Given the description of an element on the screen output the (x, y) to click on. 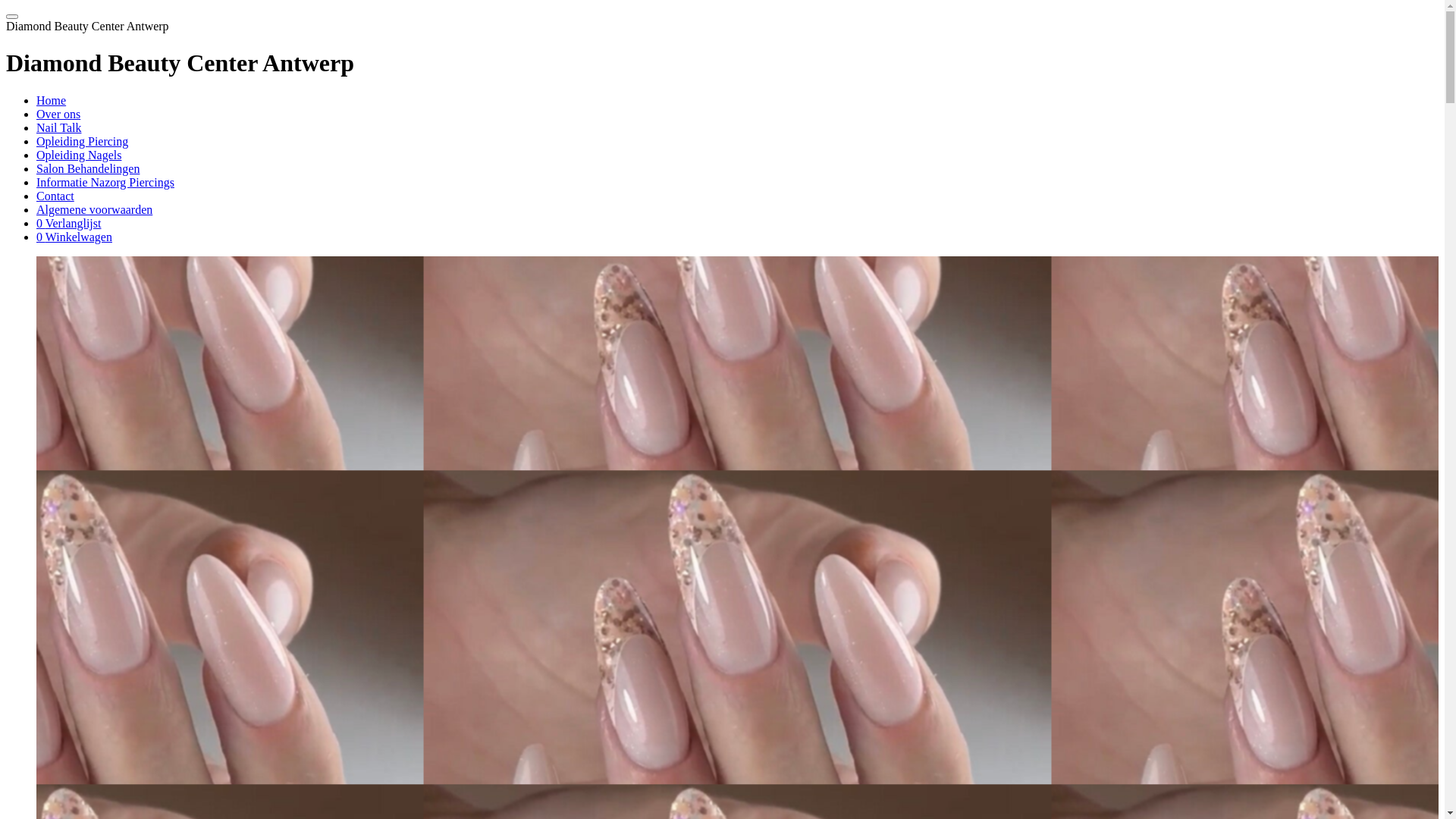
Salon Behandelingen Element type: text (87, 168)
Algemene voorwaarden Element type: text (94, 209)
0 Winkelwagen Element type: text (74, 236)
Opleiding Nagels Element type: text (78, 154)
Home Element type: text (50, 100)
0 Verlanglijst Element type: text (68, 222)
Over ons Element type: text (58, 113)
Informatie Nazorg Piercings Element type: text (105, 181)
Nail Talk Element type: text (58, 127)
Contact Element type: text (55, 195)
Opleiding Piercing Element type: text (82, 140)
